Given the description of an element on the screen output the (x, y) to click on. 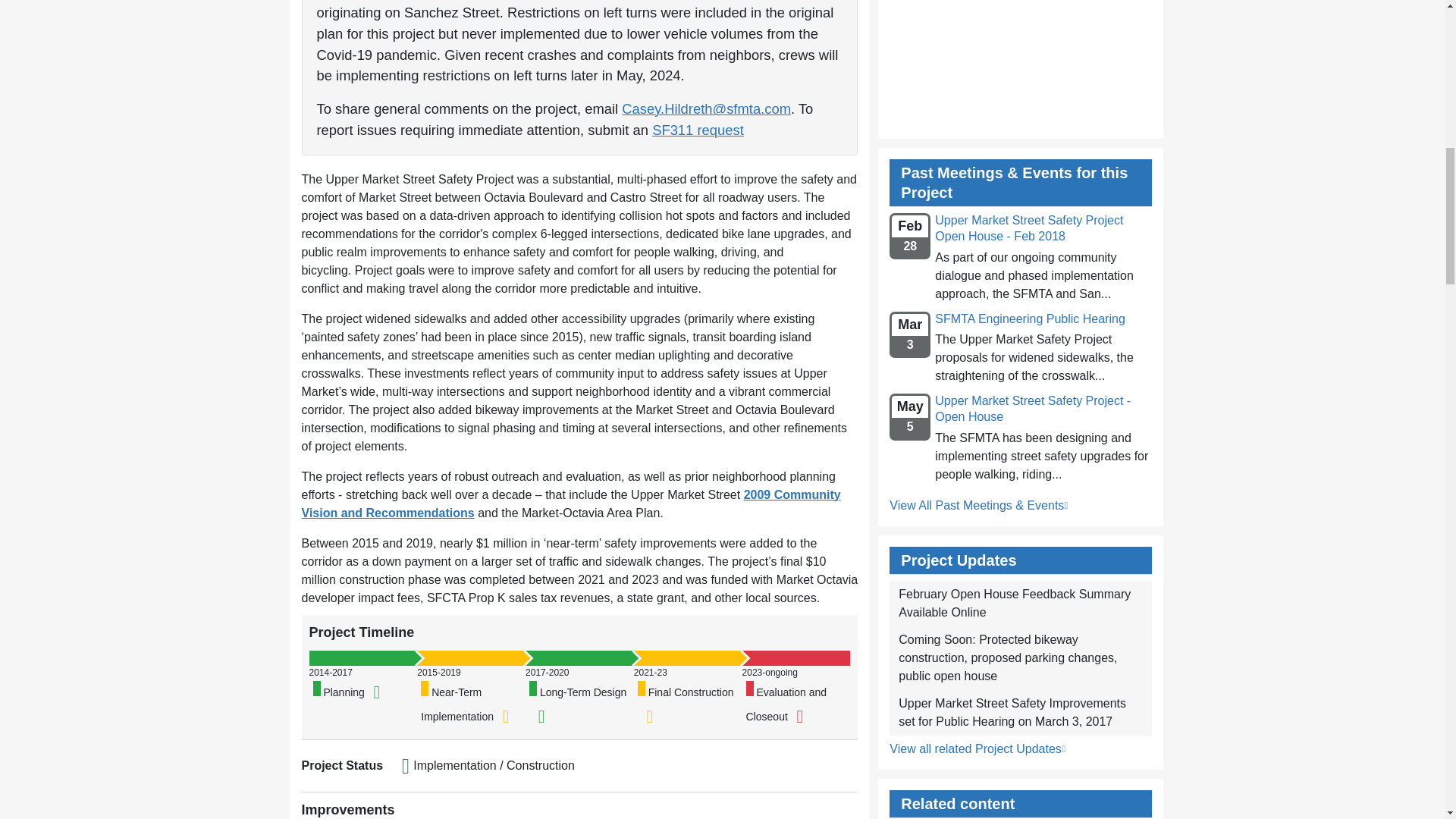
SF311 request (698, 129)
2009 Community Vision and Recommendations (571, 503)
